Given the description of an element on the screen output the (x, y) to click on. 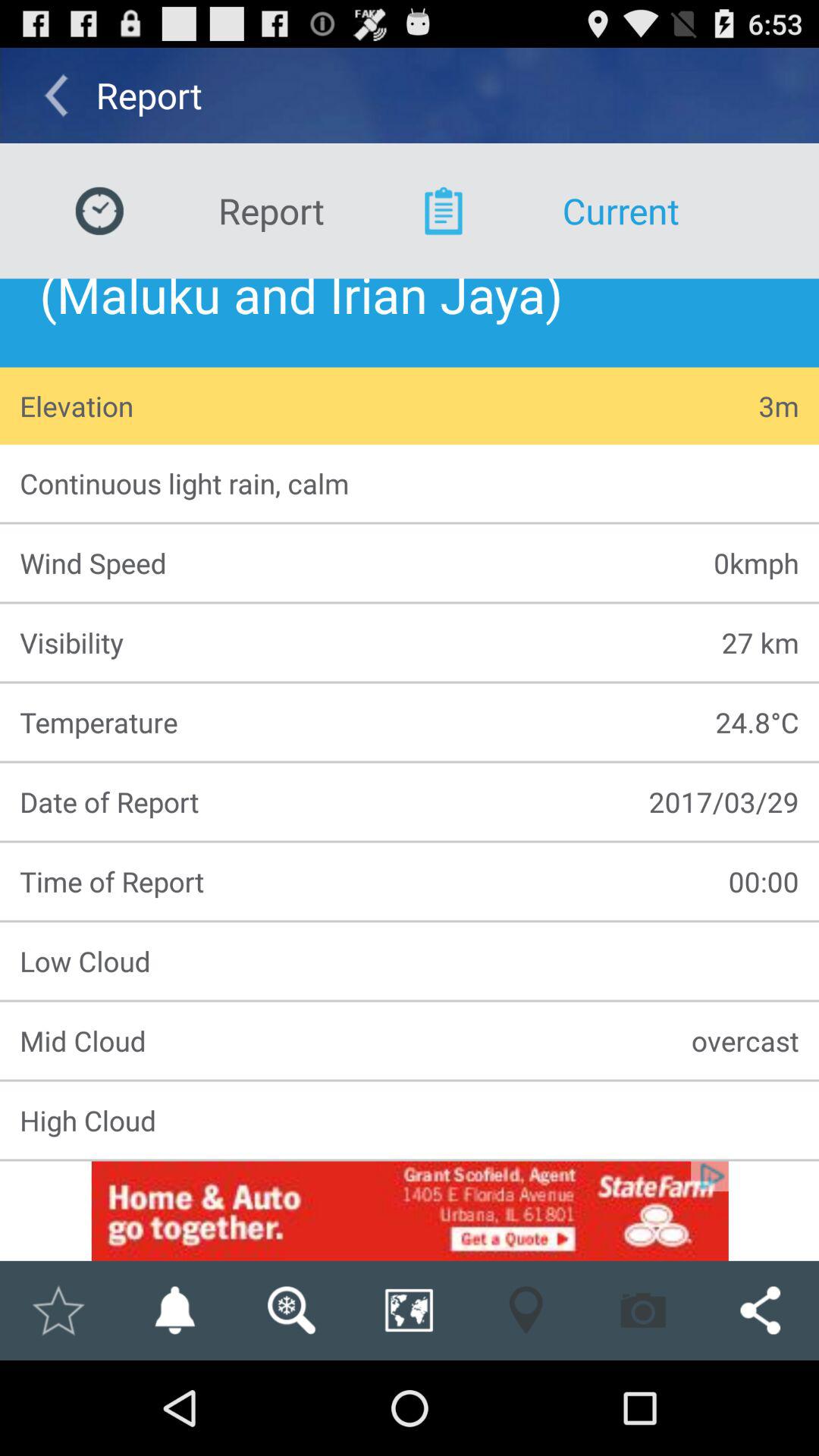
advertisement page (409, 1210)
